Given the description of an element on the screen output the (x, y) to click on. 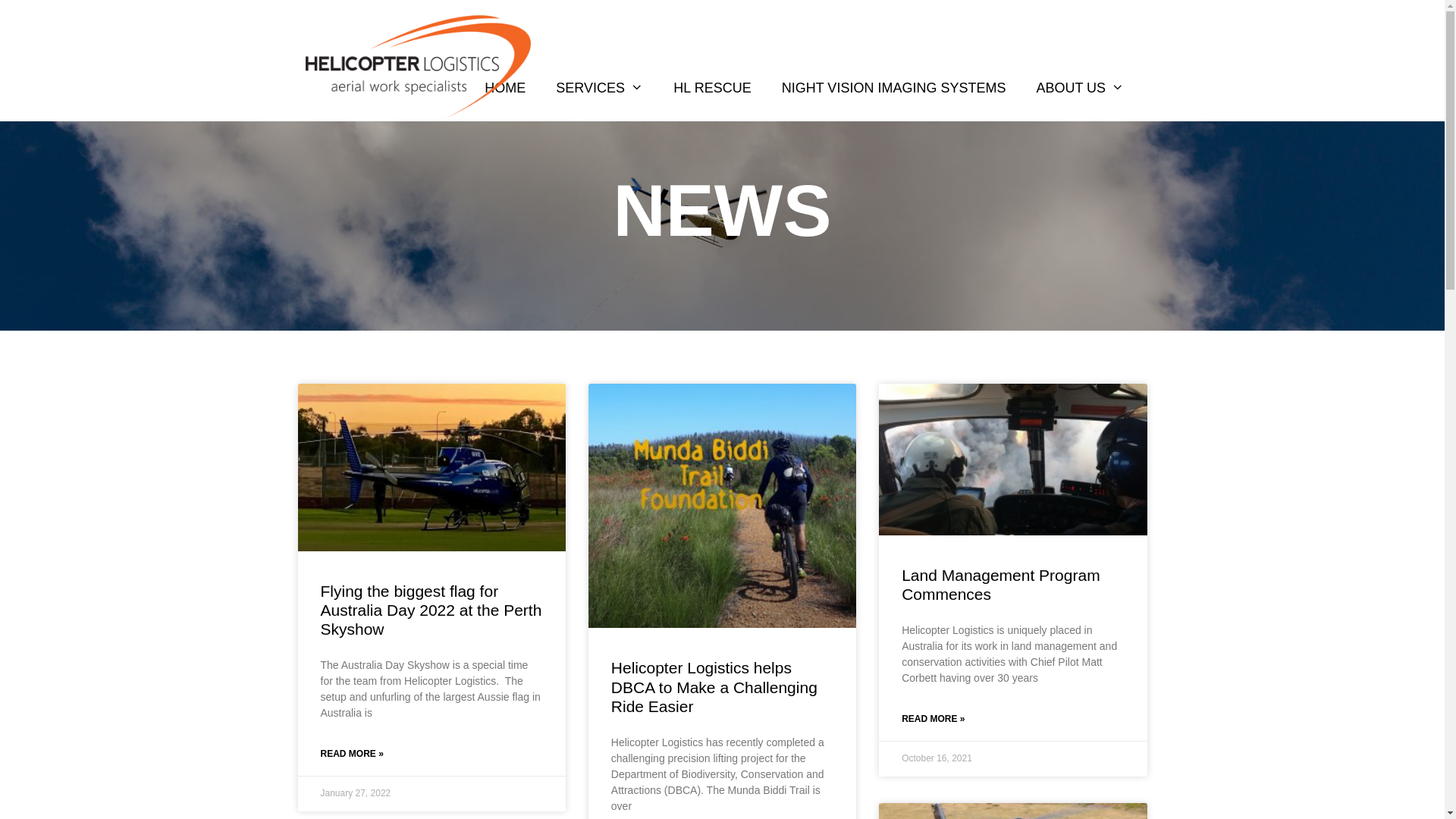
ABOUT US Element type: text (1079, 87)
SERVICES Element type: text (599, 87)
Land Management Program Commences Element type: text (1000, 584)
HOME Element type: text (504, 87)
HL RESCUE Element type: text (711, 87)
NIGHT VISION IMAGING SYSTEMS Element type: text (893, 87)
